Given the description of an element on the screen output the (x, y) to click on. 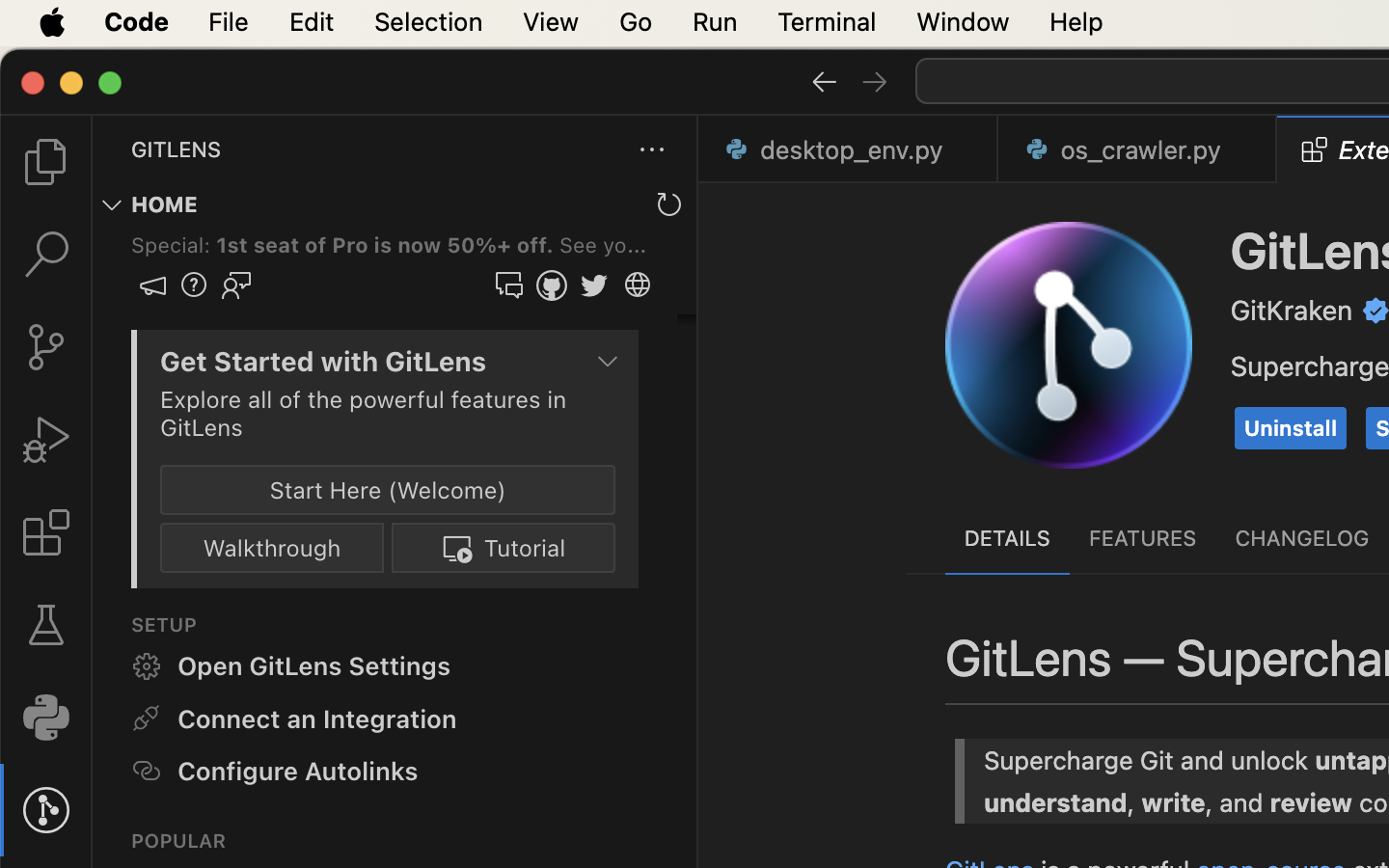
review Element type: AXStaticText (834, 398)
Supercharge Git and unlock Element type: AXStaticText (912, 360)
 Element type: AXGroup (46, 809)
1  Element type: AXRadioButton (46, 532)
All features are free to use on all repos, Element type: AXStaticText (1007, 563)
